Given the description of an element on the screen output the (x, y) to click on. 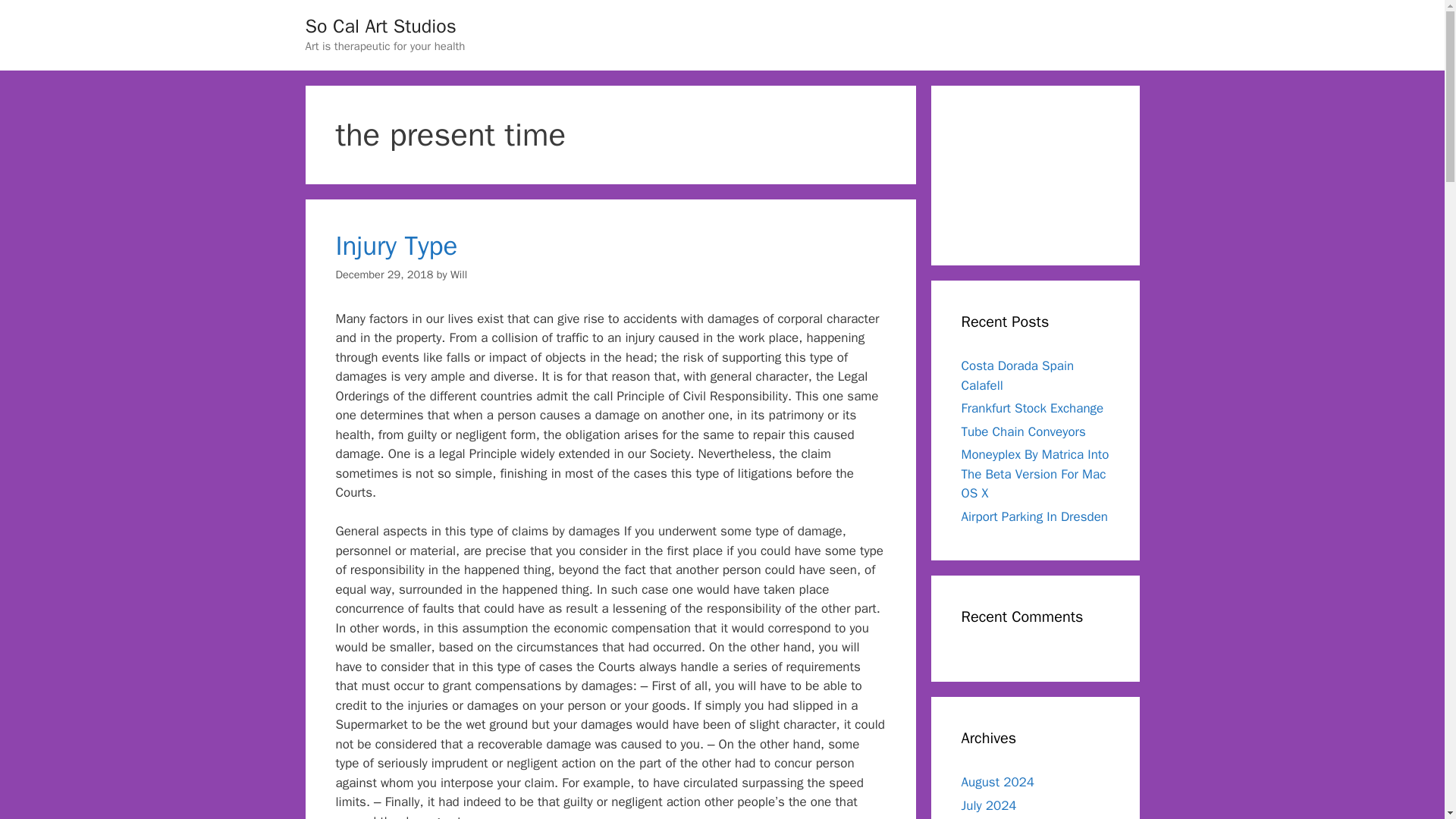
July 2024 (988, 805)
Tube Chain Conveyors (1023, 430)
Moneyplex By Matrica Into The Beta Version For Mac OS X (1034, 473)
Will (458, 274)
View all posts by Will (458, 274)
So Cal Art Studios (379, 25)
Costa Dorada Spain Calafell (1017, 375)
Airport Parking In Dresden (1034, 515)
August 2024 (996, 781)
Injury Type (395, 245)
